Given the description of an element on the screen output the (x, y) to click on. 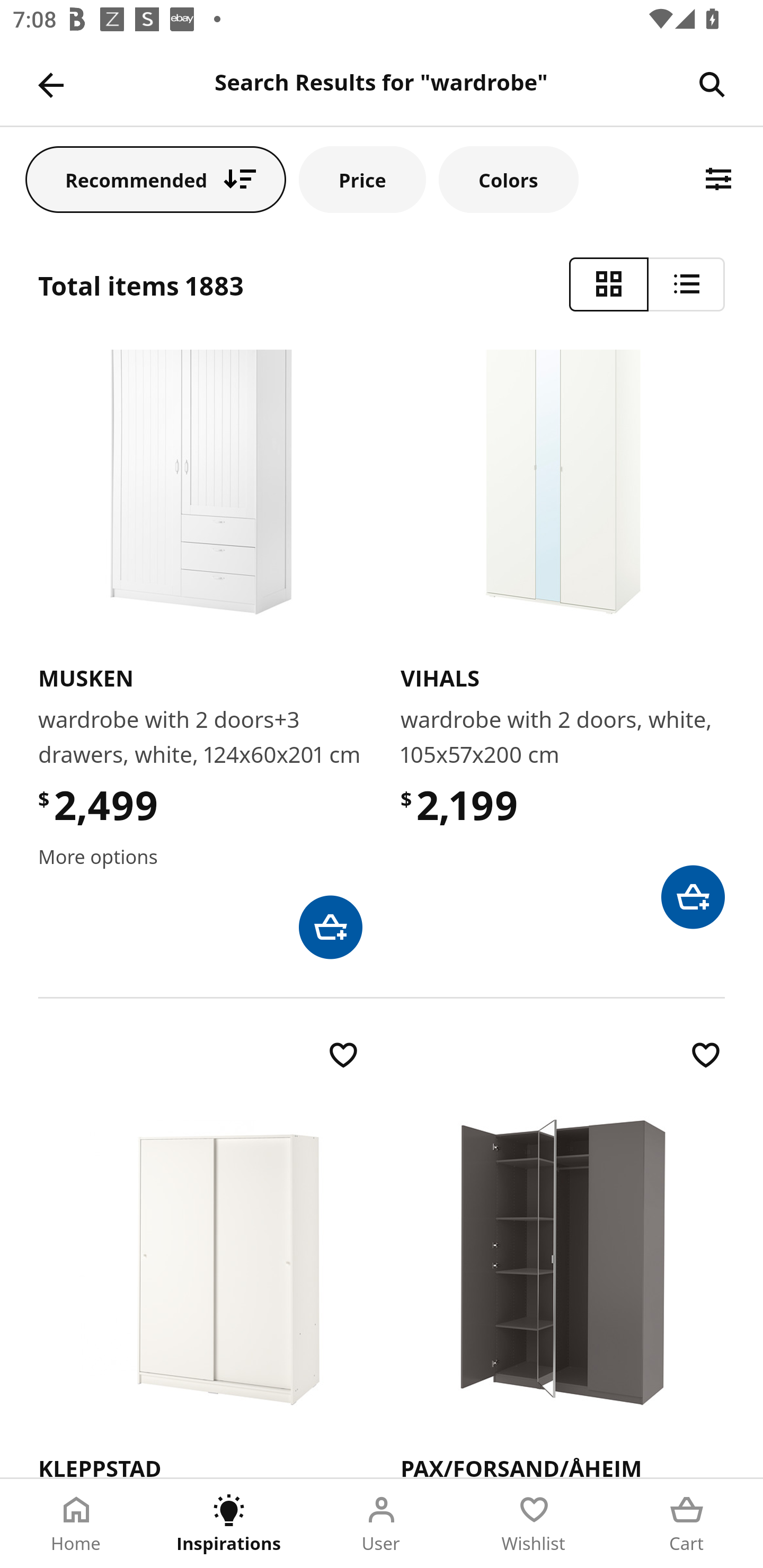
Recommended (155, 179)
Price (362, 179)
Colors (508, 179)
Home
Tab 1 of 5 (76, 1522)
Inspirations
Tab 2 of 5 (228, 1522)
User
Tab 3 of 5 (381, 1522)
Wishlist
Tab 4 of 5 (533, 1522)
Cart
Tab 5 of 5 (686, 1522)
